Given the description of an element on the screen output the (x, y) to click on. 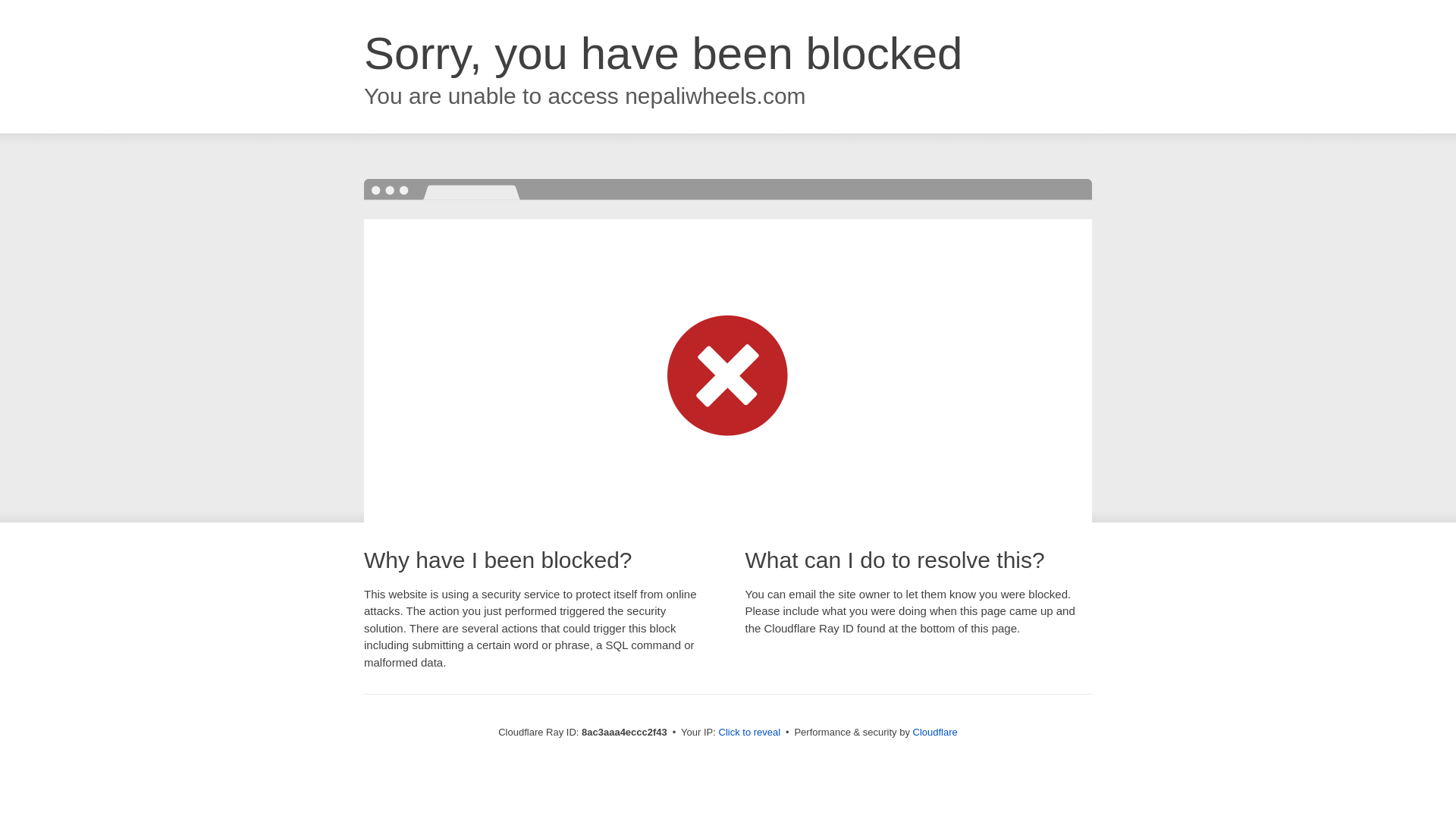
Click to reveal (749, 732)
Cloudflare (935, 731)
